Given the description of an element on the screen output the (x, y) to click on. 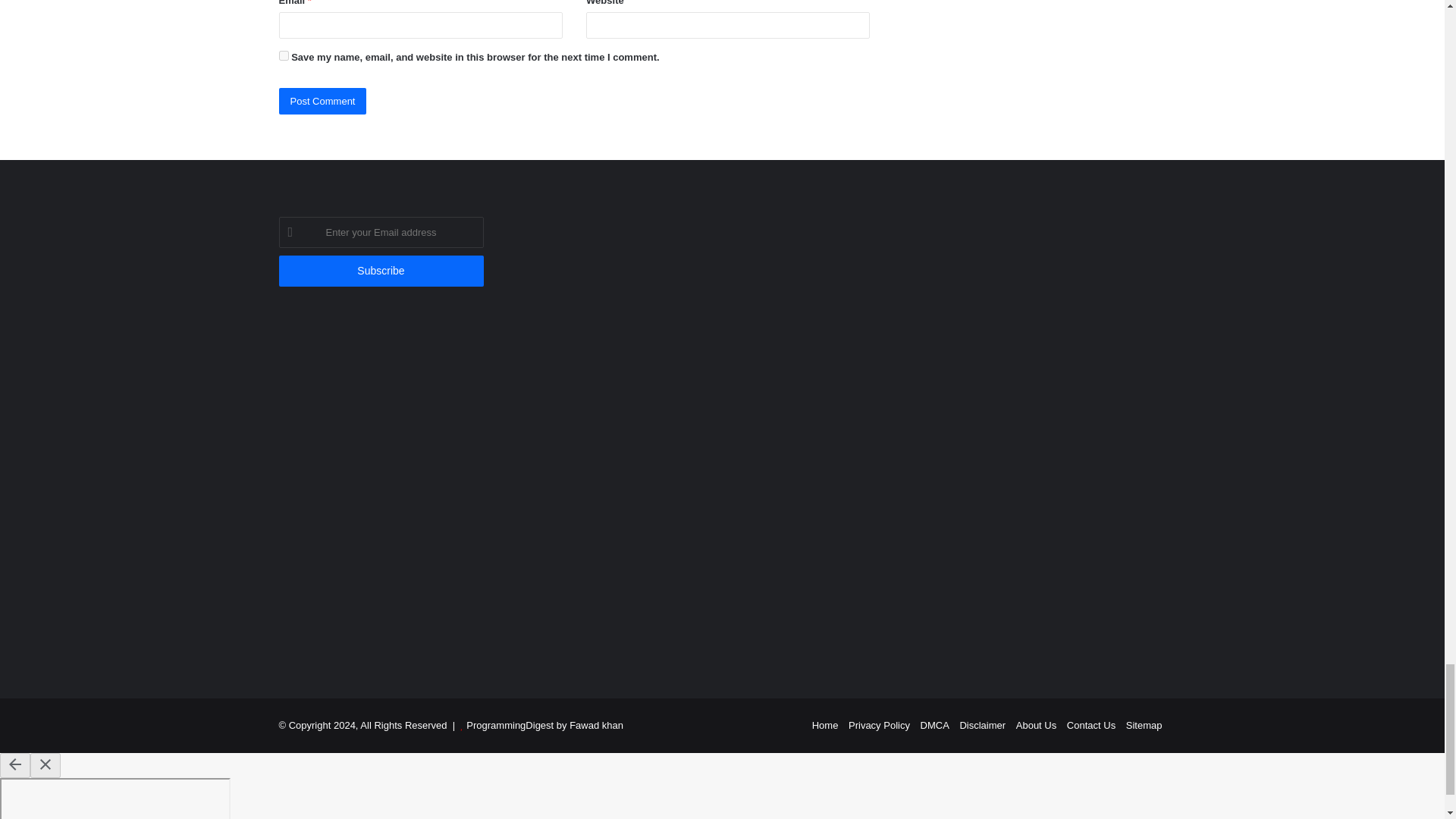
yes (283, 55)
Subscribe (381, 270)
Post Comment (322, 100)
